Given the description of an element on the screen output the (x, y) to click on. 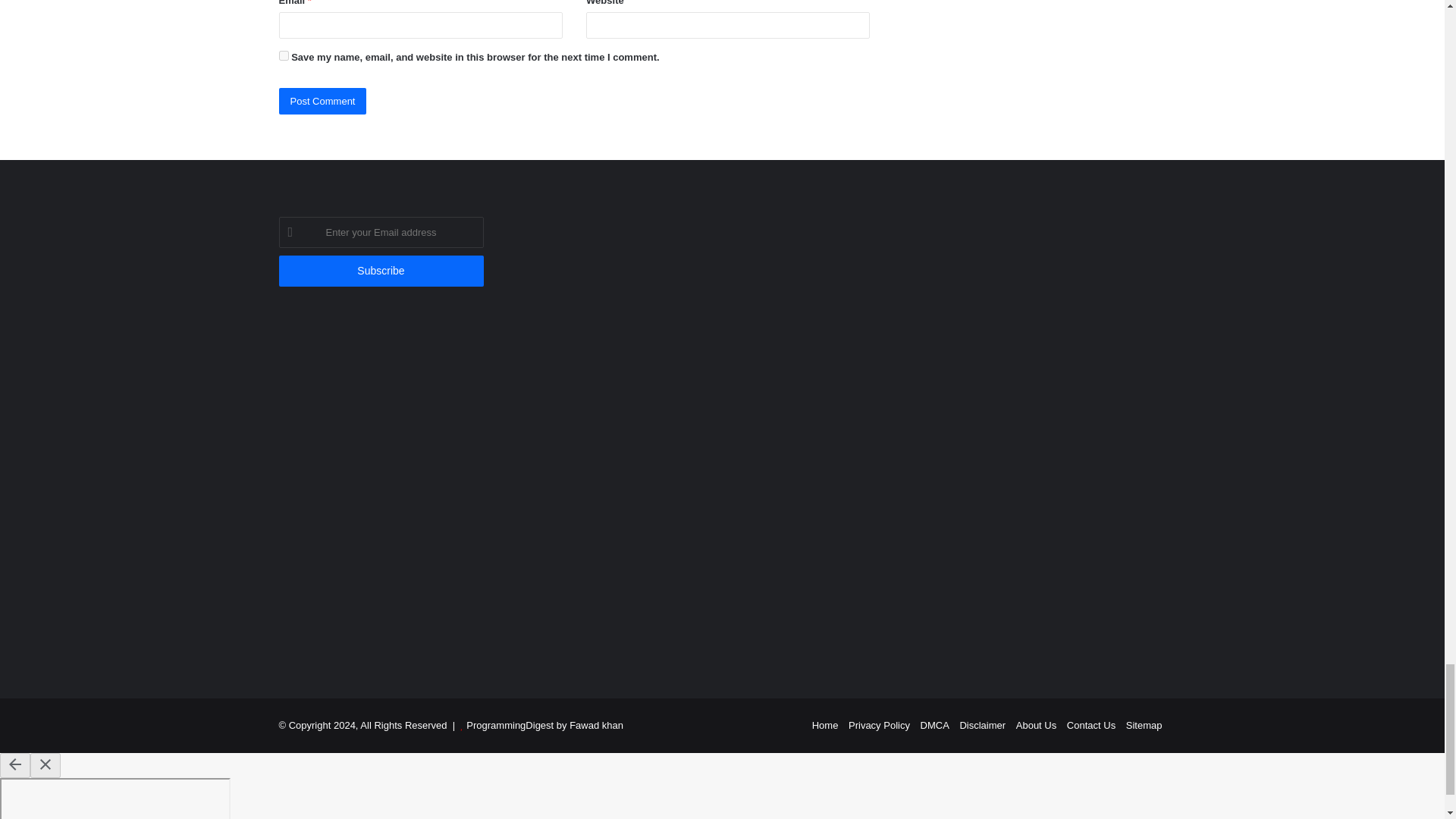
yes (283, 55)
Subscribe (381, 270)
Post Comment (322, 100)
